Given the description of an element on the screen output the (x, y) to click on. 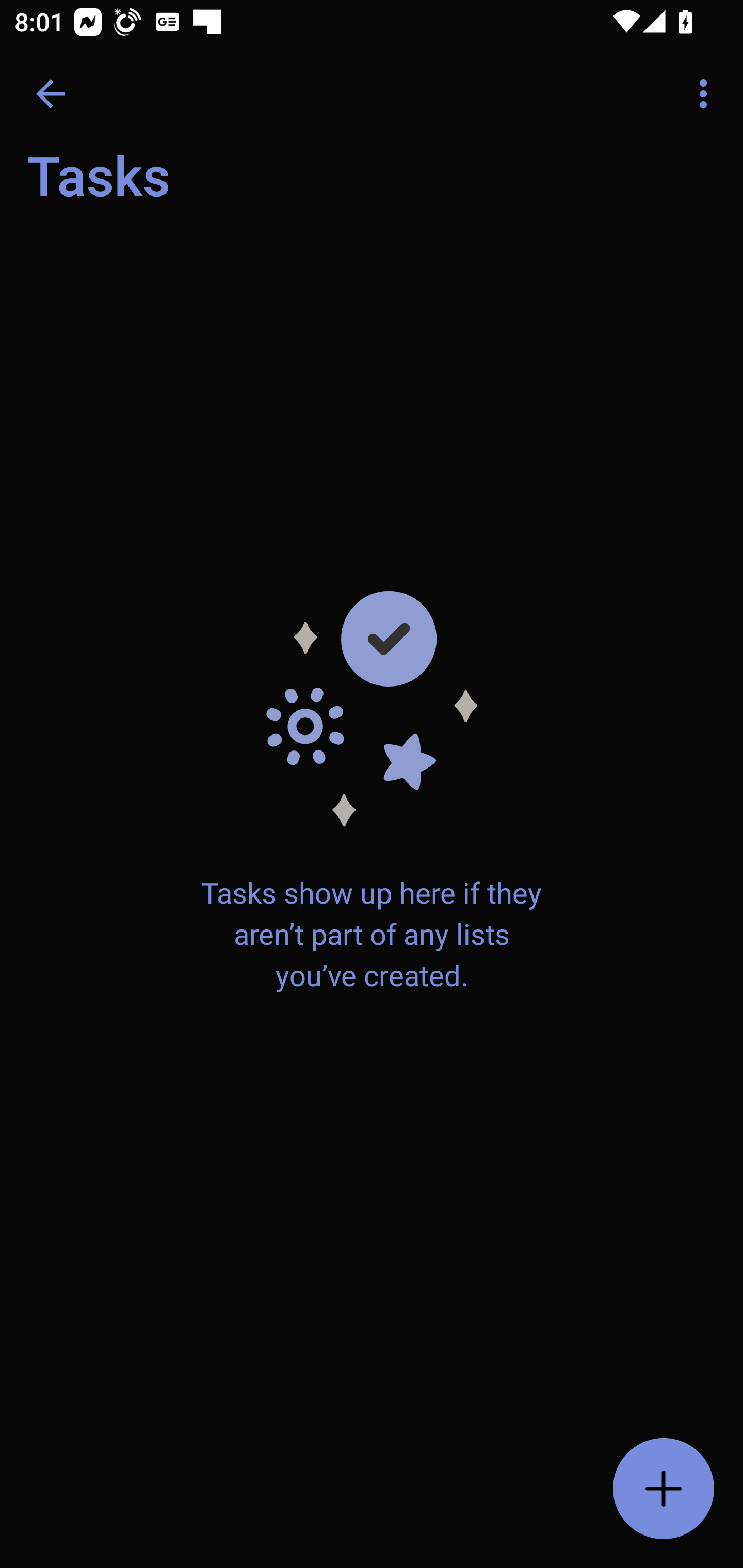
Back (50, 93)
More options (706, 93)
My Day, 0 tasks (182, 187)
Add a task (663, 1488)
